Given the description of an element on the screen output the (x, y) to click on. 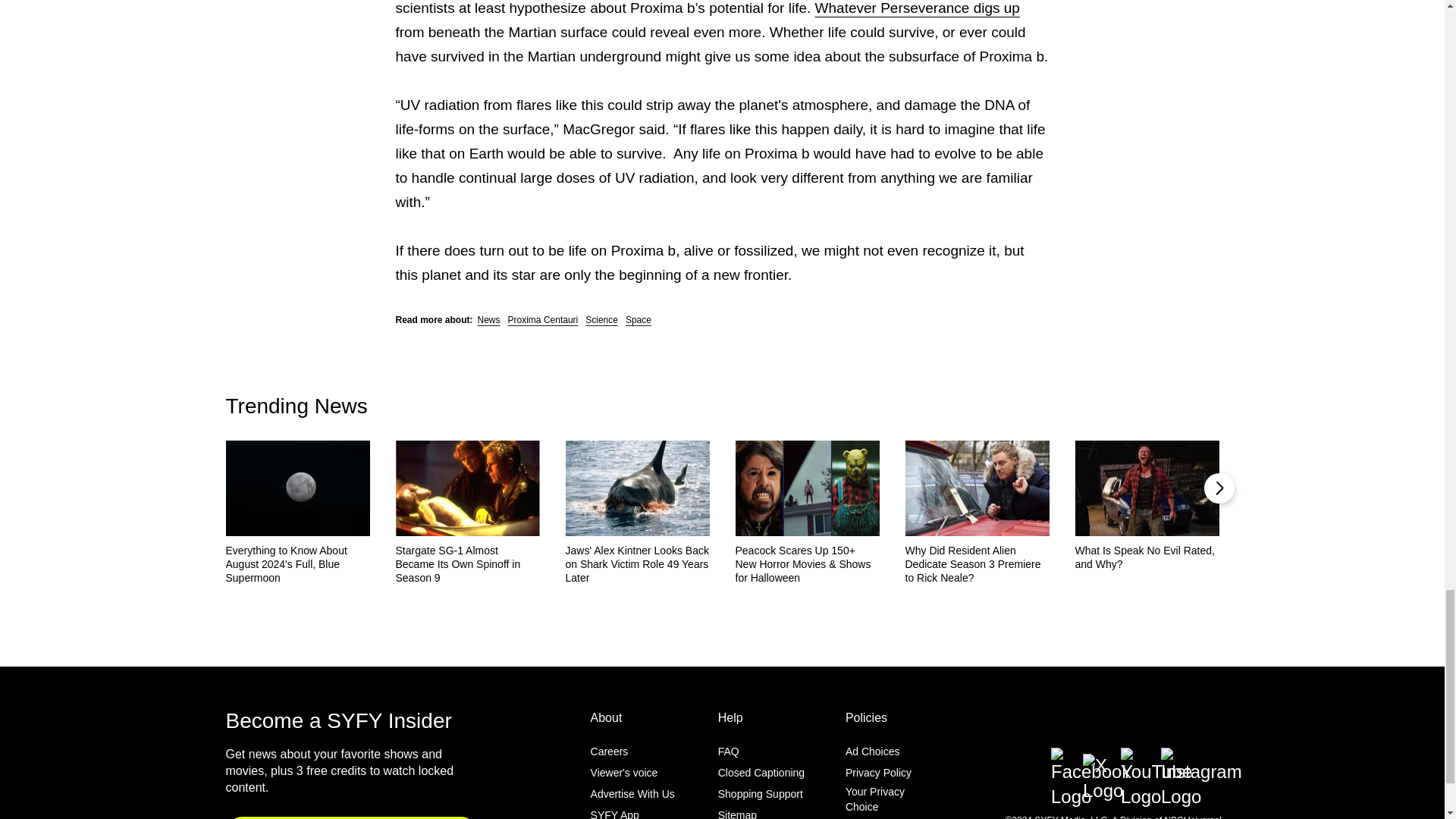
Proxima Centauri (543, 319)
Space (638, 319)
Advertise With Us (633, 794)
Whatever Perseverance digs up (917, 7)
Science (601, 319)
News (488, 319)
Everything to Know About August 2024's Full, Blue Supermoon (297, 563)
